Given the description of an element on the screen output the (x, y) to click on. 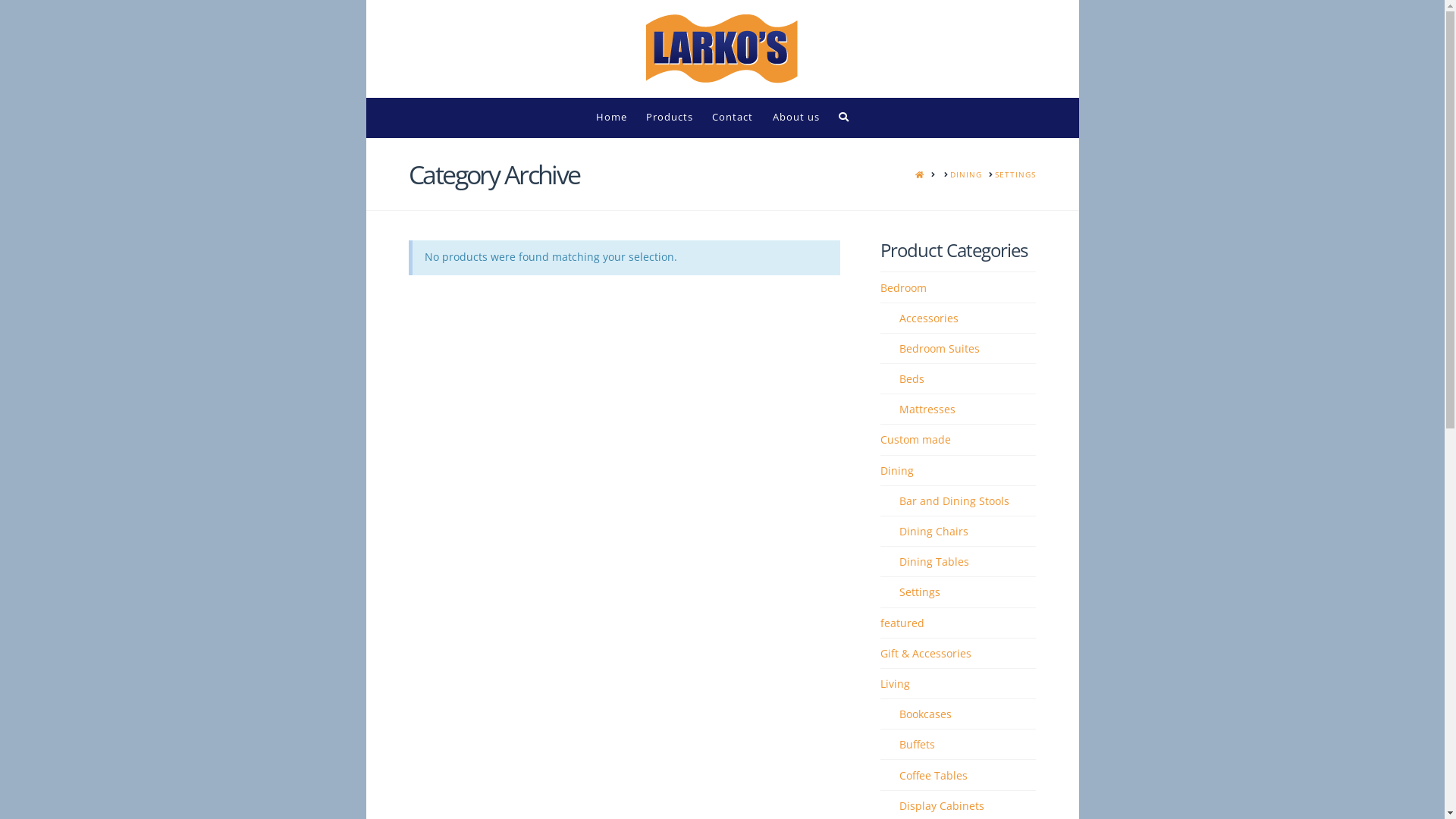
Dining Element type: text (896, 470)
Dining Chairs Element type: text (933, 531)
Beds Element type: text (911, 378)
SETTINGS Element type: text (1014, 174)
Contact Element type: text (732, 117)
Buffets Element type: text (917, 744)
Bar and Dining Stools Element type: text (954, 500)
Mattresses Element type: text (927, 409)
About us Element type: text (795, 117)
Bedroom Suites Element type: text (939, 348)
Bookcases Element type: text (925, 713)
Bedroom Element type: text (903, 287)
Products Element type: text (669, 117)
DINING Element type: text (966, 174)
Gift & Accessories Element type: text (925, 653)
Dining Tables Element type: text (934, 561)
Home Element type: text (611, 117)
featured Element type: text (902, 622)
Living Element type: text (895, 683)
Accessories Element type: text (928, 318)
Display Cabinets Element type: text (941, 805)
Custom made Element type: text (915, 439)
HOME Element type: text (919, 174)
Settings Element type: text (919, 591)
Coffee Tables Element type: text (933, 775)
